Given the description of an element on the screen output the (x, y) to click on. 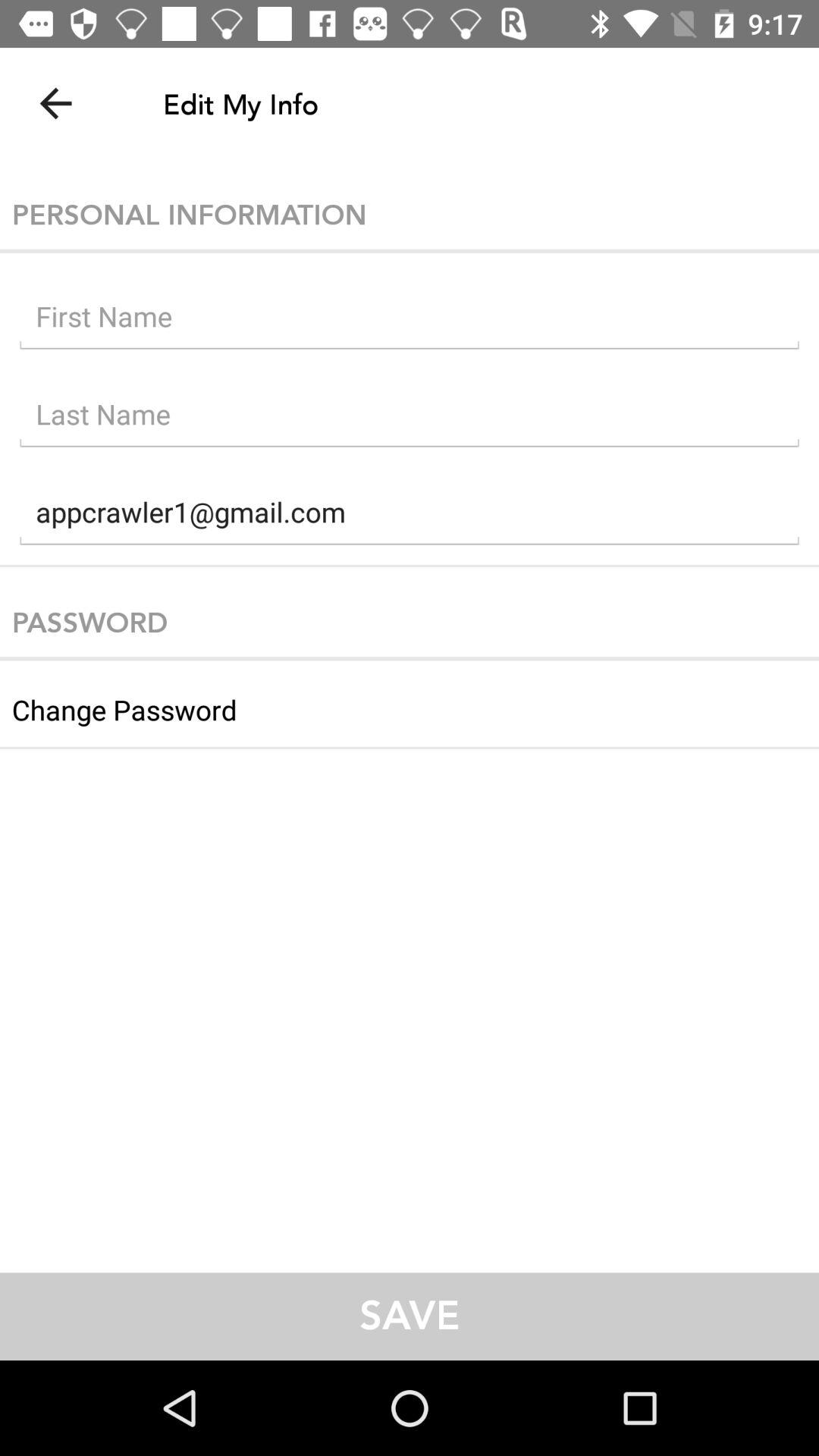
tap icon to the left of edit my info (55, 103)
